Given the description of an element on the screen output the (x, y) to click on. 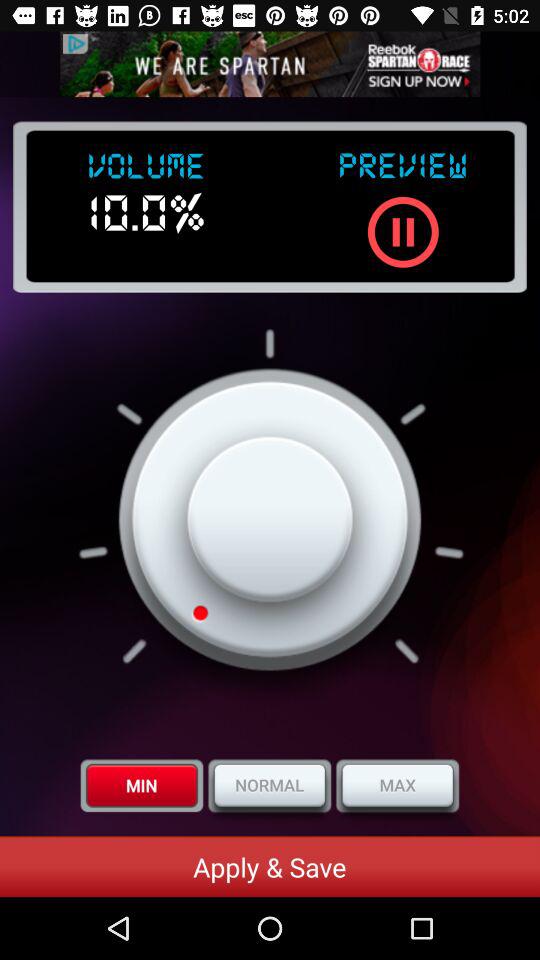
select the advisement (270, 64)
